Given the description of an element on the screen output the (x, y) to click on. 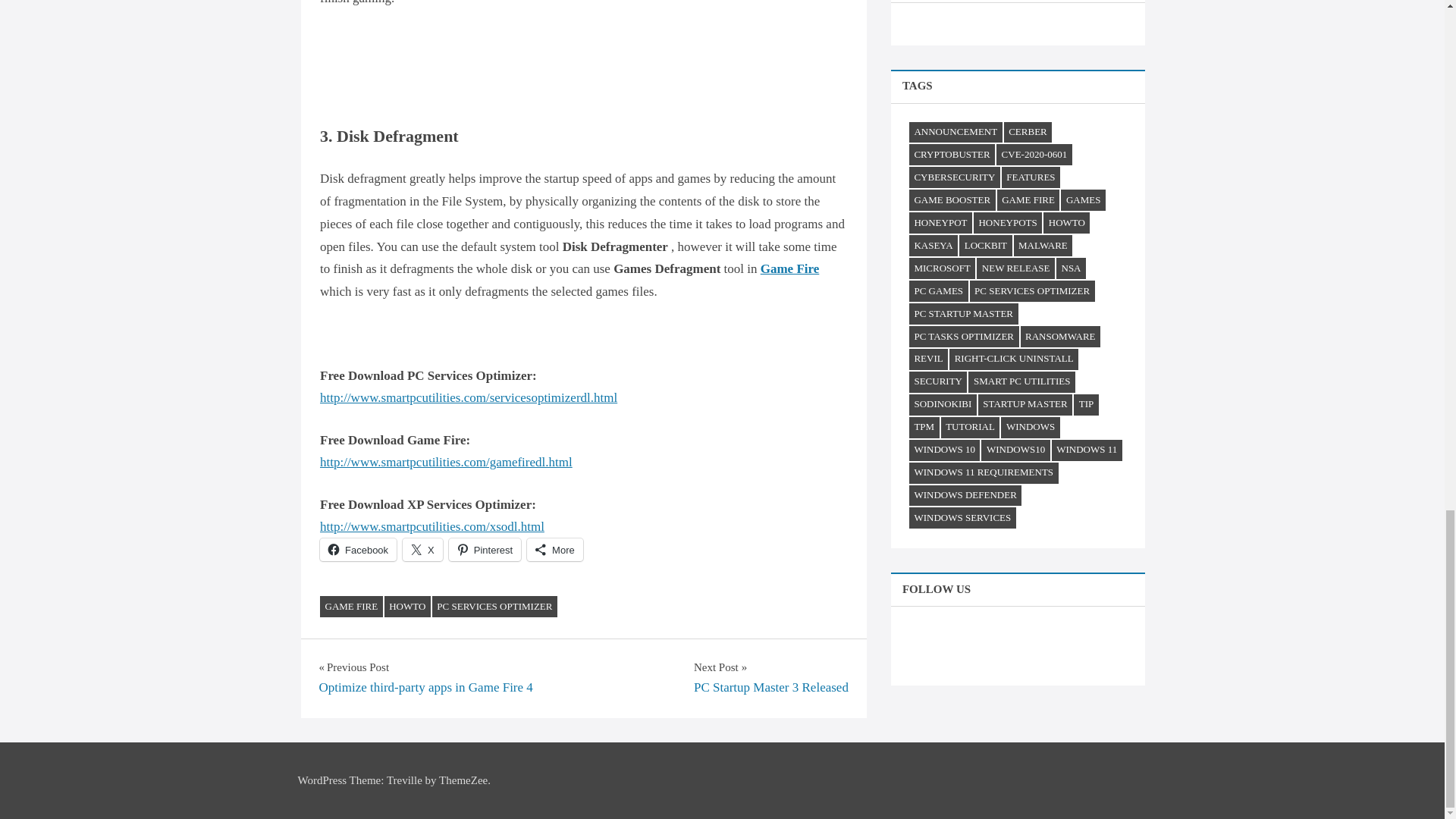
Click to share on Pinterest (484, 549)
Game Fire (789, 268)
Click to share on X (422, 549)
Facebook (358, 549)
Click to share on Facebook (358, 549)
